Given the description of an element on the screen output the (x, y) to click on. 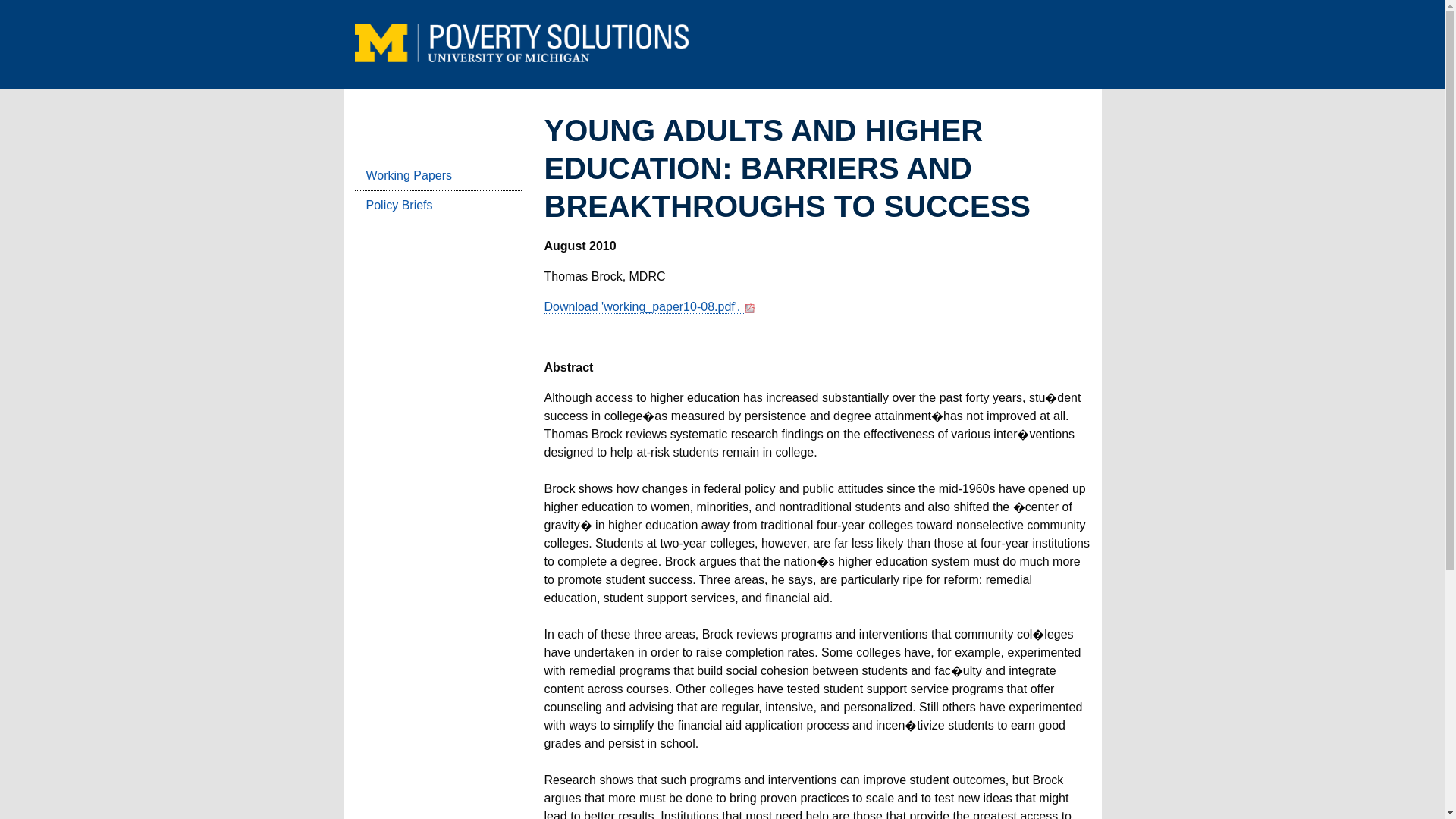
Poverty Solutions at The University of Michigan (521, 43)
pdf document (644, 306)
Policy Briefs (438, 205)
pdf document (749, 307)
Poverty Solutions at The University of Michigan (521, 53)
Working Papers (438, 175)
